Given the description of an element on the screen output the (x, y) to click on. 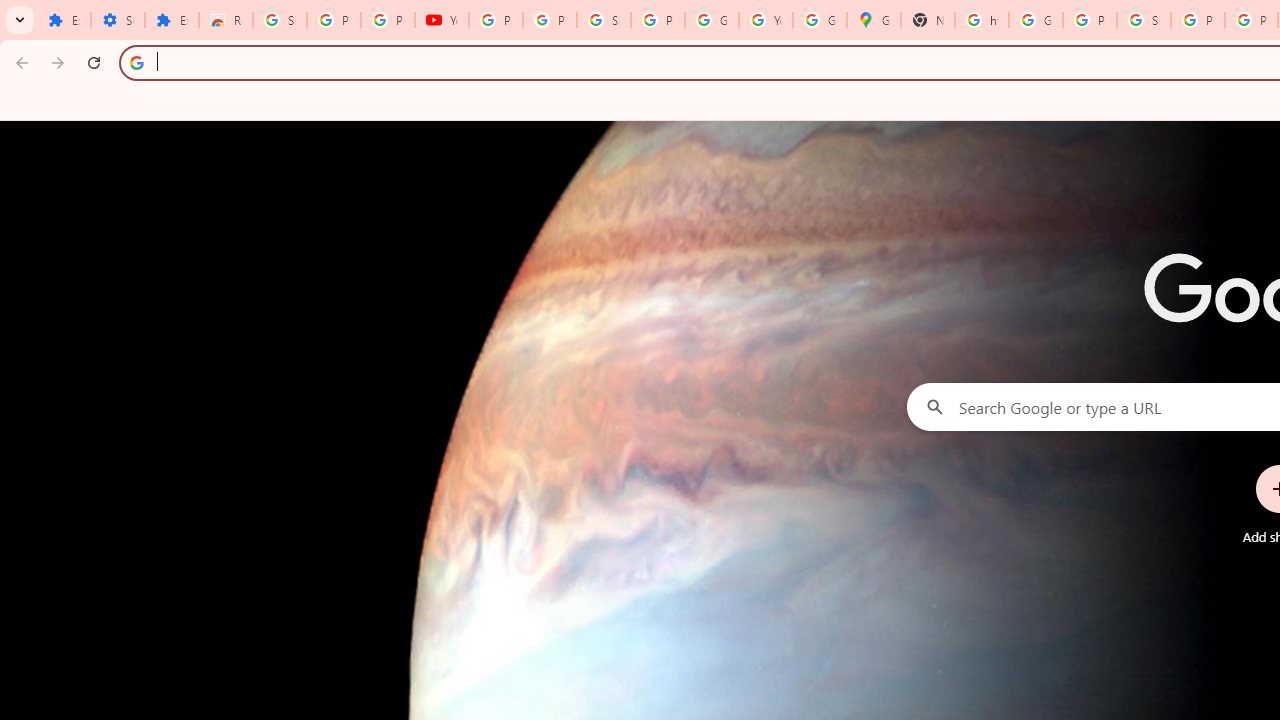
YouTube (441, 20)
Sign in - Google Accounts (280, 20)
Sign in - Google Accounts (1144, 20)
Google Account (711, 20)
Reviews: Helix Fruit Jump Arcade Game (225, 20)
Settings (117, 20)
Extensions (63, 20)
